Given the description of an element on the screen output the (x, y) to click on. 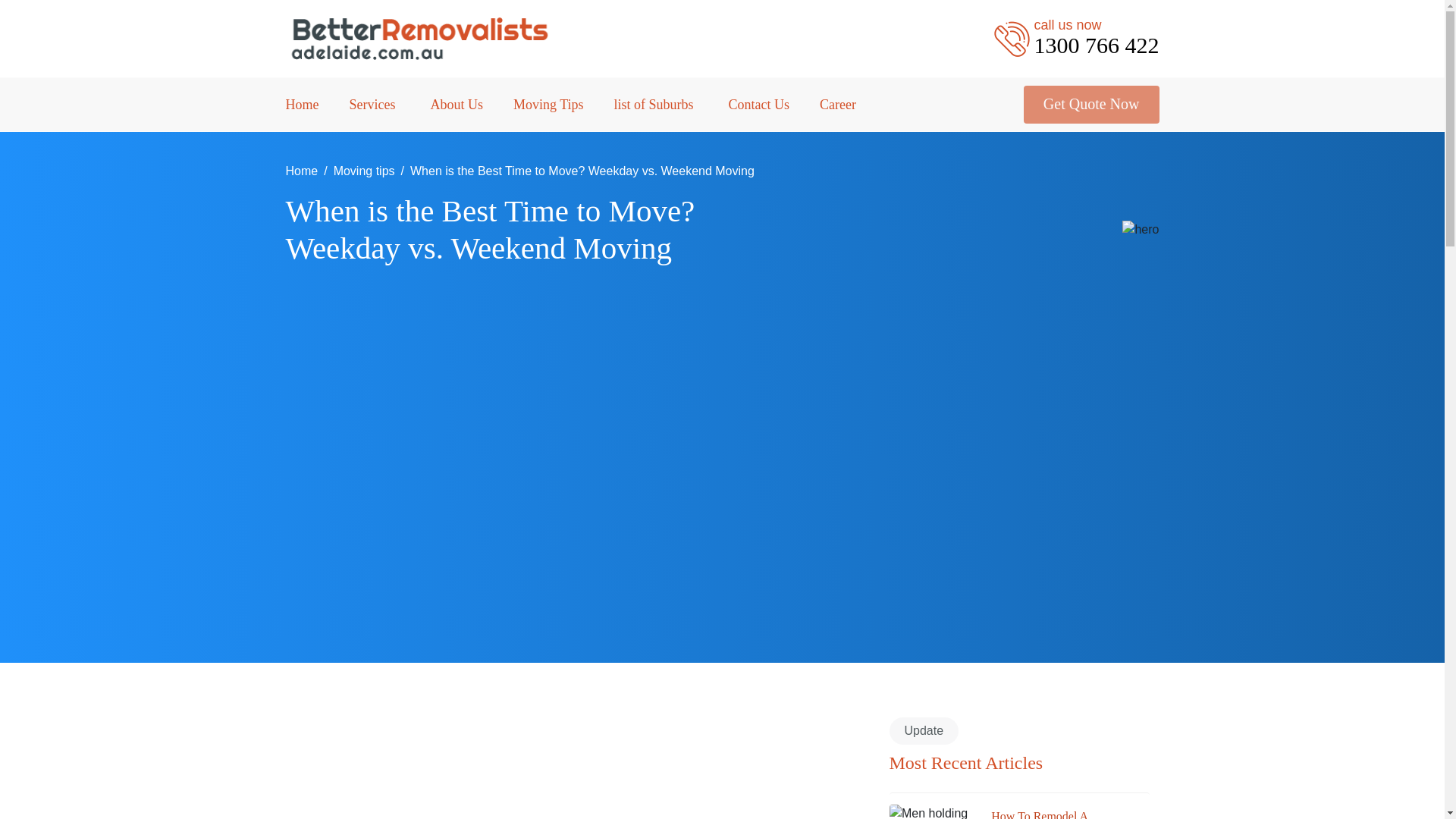
Moving Tips (548, 103)
Home (301, 170)
list of Suburbs (656, 103)
Contact Us (759, 103)
How To Remodel A Bathroom: Step-By-Step Guide (1062, 813)
Go to blog listing. (363, 170)
About Us (456, 103)
Moving tips (363, 170)
Get Quote Now (1090, 104)
Go to Home. (301, 170)
